Given the description of an element on the screen output the (x, y) to click on. 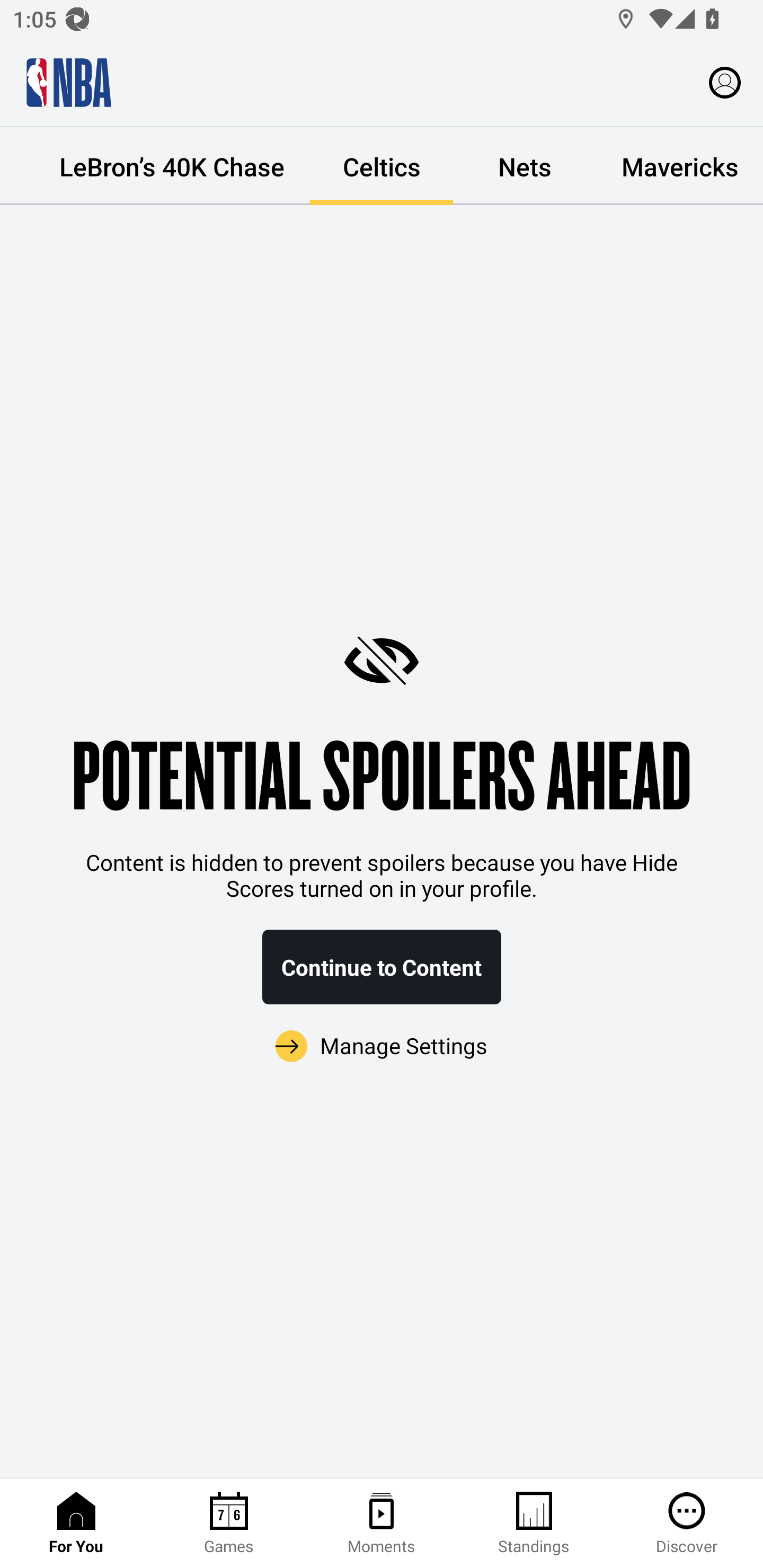
Profile (724, 81)
LeBron’s 40K Chase (171, 166)
Nets (524, 166)
Mavericks (679, 166)
Continue to Content (381, 967)
Manage Settings (381, 1046)
Games (228, 1523)
Moments (381, 1523)
Standings (533, 1523)
Discover (686, 1523)
